Given the description of an element on the screen output the (x, y) to click on. 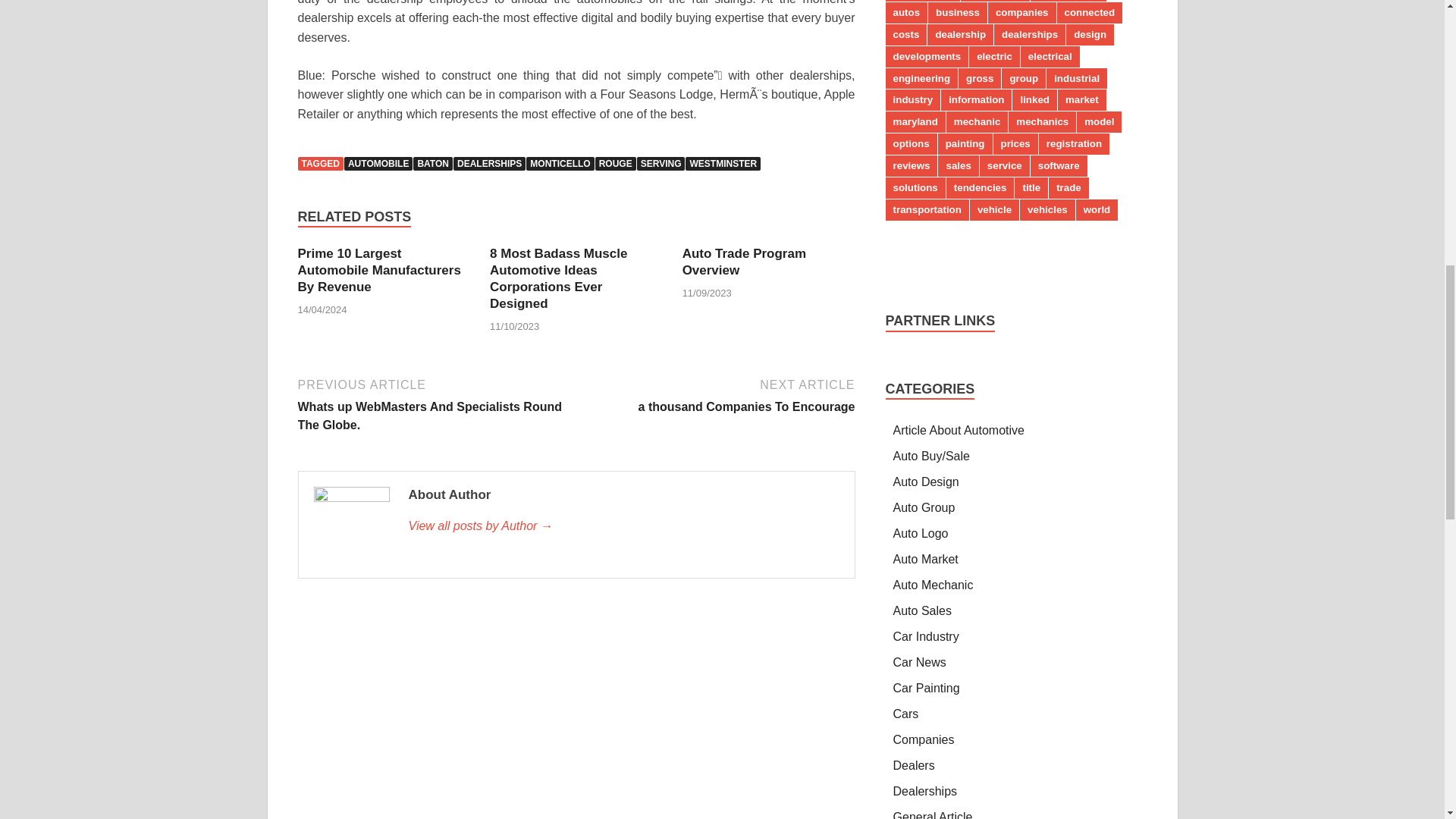
WESTMINSTER (722, 163)
Prime 10 Largest Automobile Manufacturers By Revenue (378, 270)
Prime 10 Largest Automobile Manufacturers By Revenue (378, 270)
DEALERSHIPS (488, 163)
SERVING (661, 163)
Author (622, 525)
Auto Trade Program Overview (744, 261)
ROUGE (615, 163)
